Given the description of an element on the screen output the (x, y) to click on. 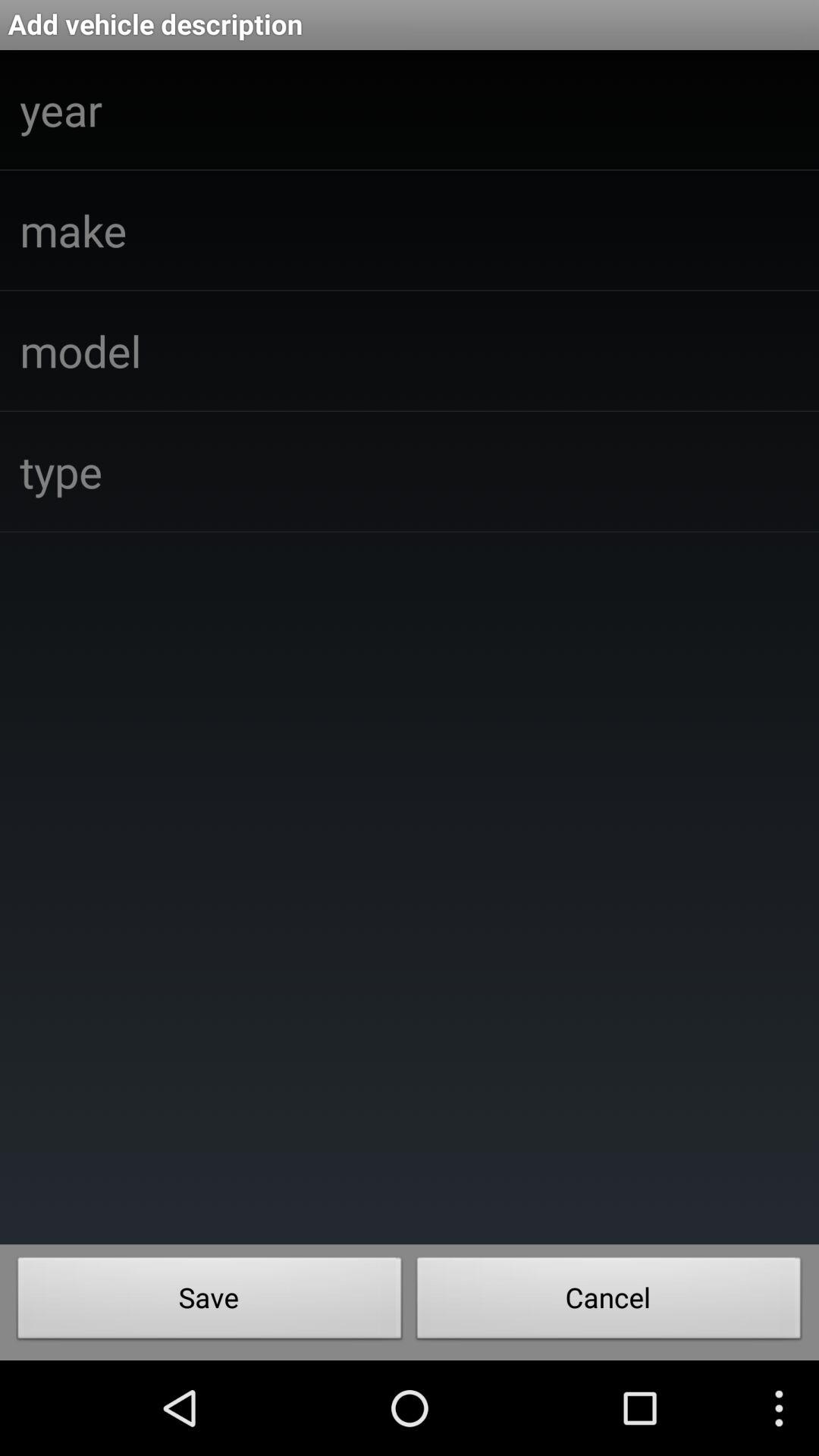
tap the item below the add vehicle description icon (608, 1302)
